Given the description of an element on the screen output the (x, y) to click on. 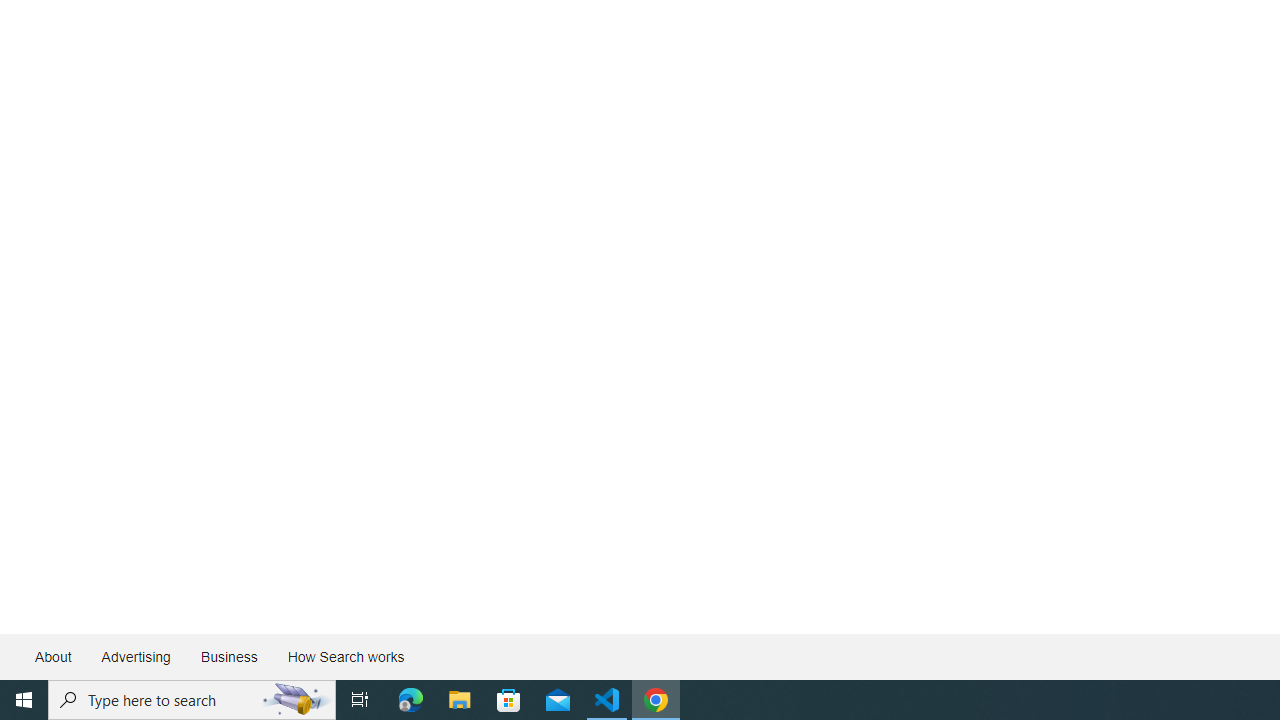
Advertising (135, 656)
Business (228, 656)
How Search works (345, 656)
